Given the description of an element on the screen output the (x, y) to click on. 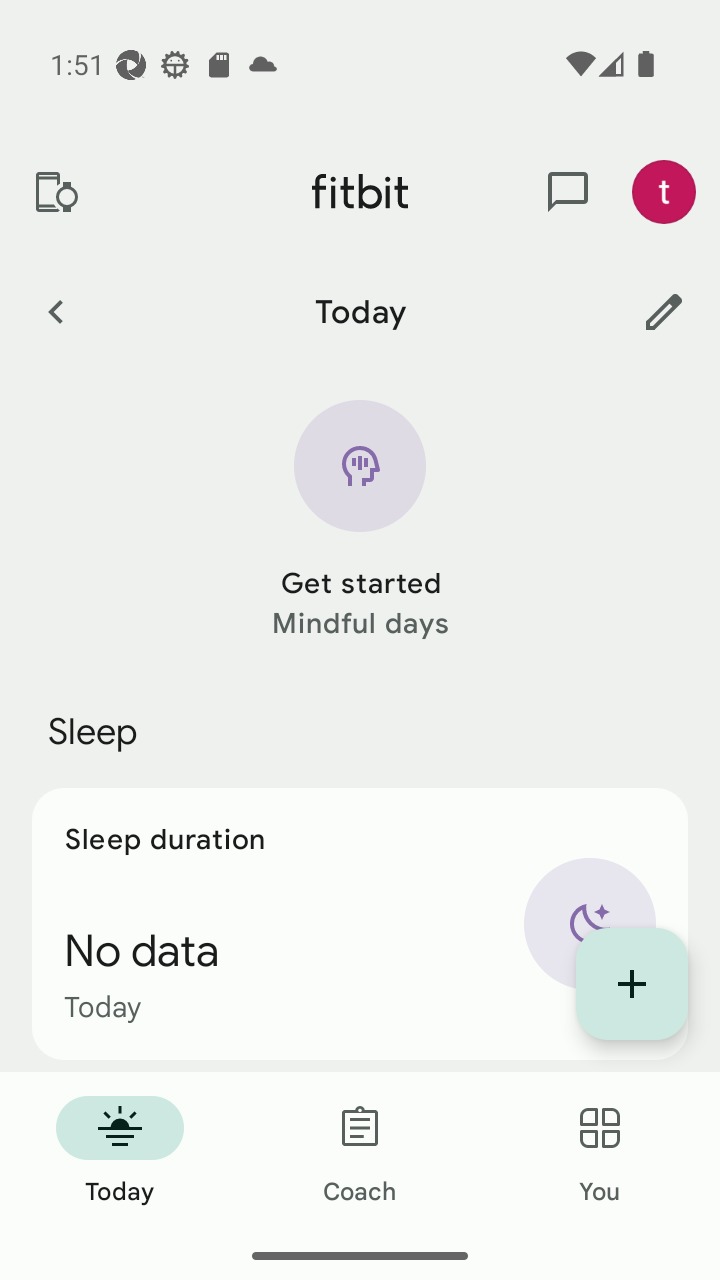
Devices and apps (55, 191)
messages and notifications (567, 191)
Previous Day (55, 311)
Customize (664, 311)
Mindfulness icon Get started Mindful days (360, 521)
Sleep duration No data Today Sleep static arc (359, 923)
Display list of quick log entries (632, 983)
Coach (359, 1151)
You (600, 1151)
